Given the description of an element on the screen output the (x, y) to click on. 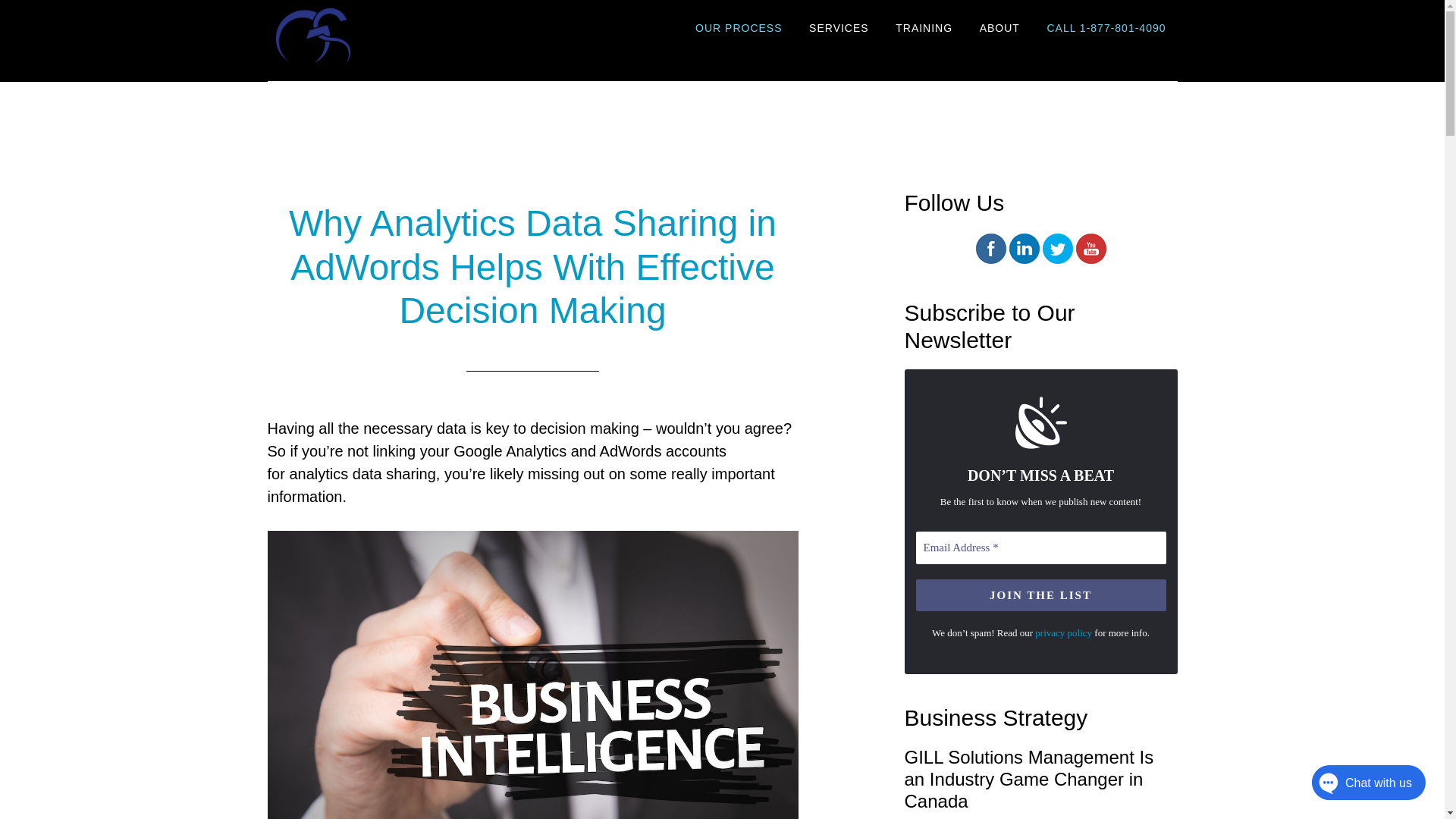
YouTube (1090, 248)
TRAINING (923, 28)
Facebook (990, 248)
OUR PROCESS (738, 28)
ABOUT (999, 28)
LinkedIn (1024, 248)
LinkedIn (1024, 259)
Twitter (1057, 259)
Email Address (1040, 547)
YouTube (1090, 259)
Twitter (1056, 248)
JOIN THE LIST (1040, 595)
GILL SOLUTIONS (403, 33)
SERVICES (838, 28)
